Given the description of an element on the screen output the (x, y) to click on. 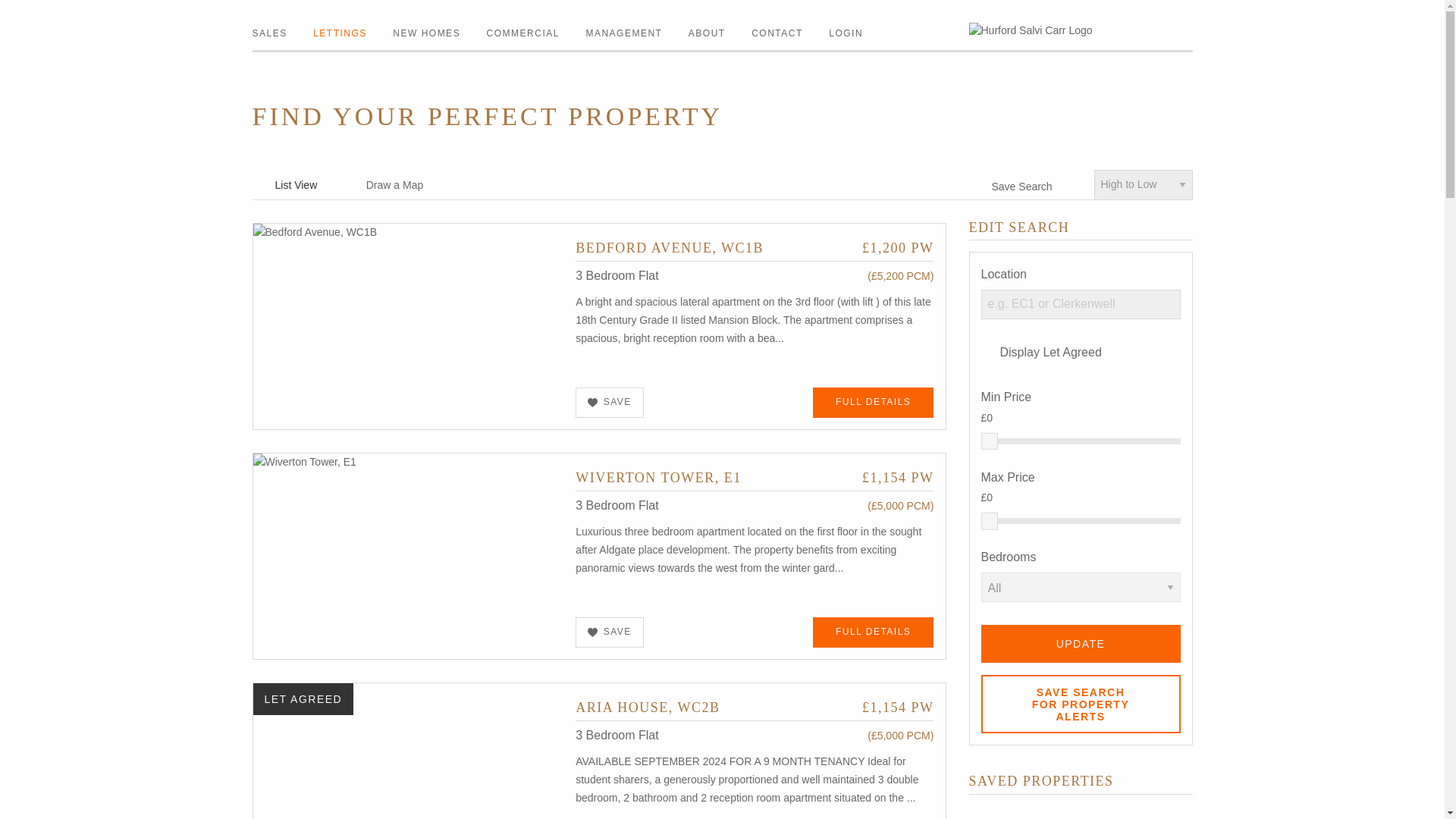
SAVE (609, 632)
LETTINGS (339, 32)
Save Search (1010, 186)
FULL DETAILS (873, 402)
MANAGEMENT (623, 32)
HEART CREATED USING FIGMA (592, 632)
Draw a Map (383, 184)
View property details (754, 248)
COMMERCIAL (522, 32)
SAVE (609, 401)
